Given the description of an element on the screen output the (x, y) to click on. 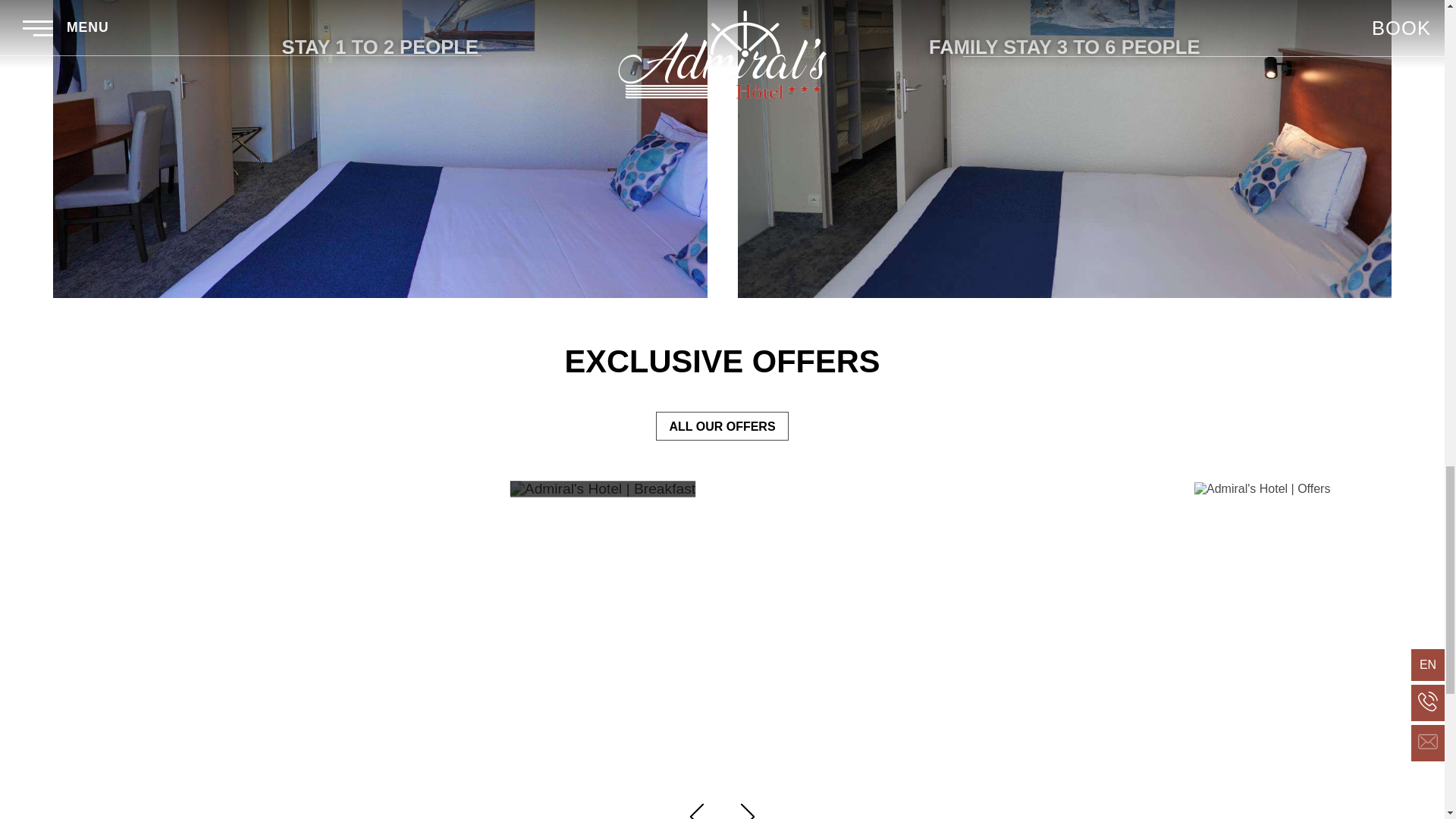
ALL OUR OFFERS (721, 425)
Previous offer (697, 811)
Next offer (749, 811)
